Given the description of an element on the screen output the (x, y) to click on. 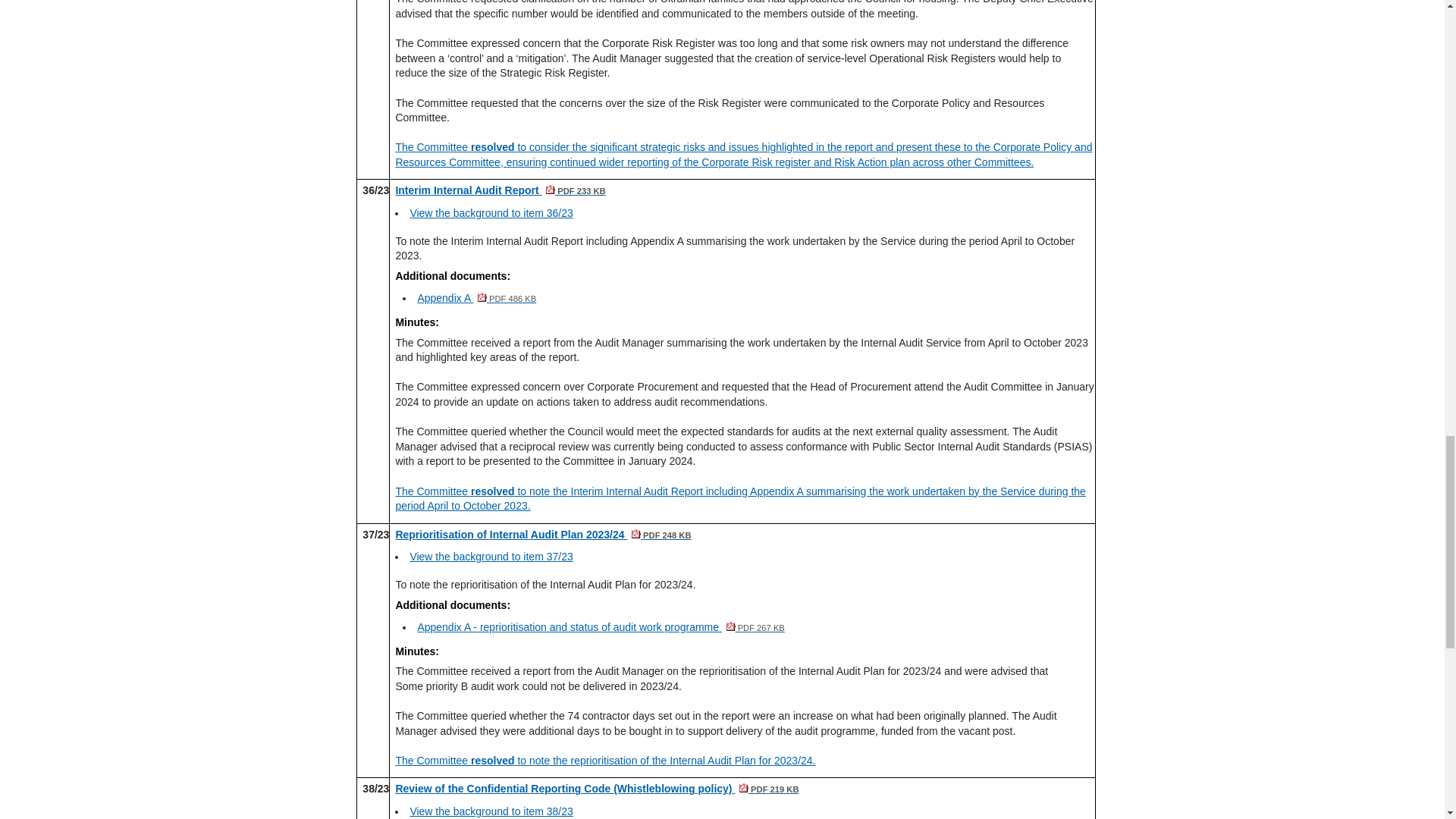
Link to document 'Appendix A' pdf file (475, 297)
Link to document 'Interim Internal Audit Report' pdf file (499, 190)
